Given the description of an element on the screen output the (x, y) to click on. 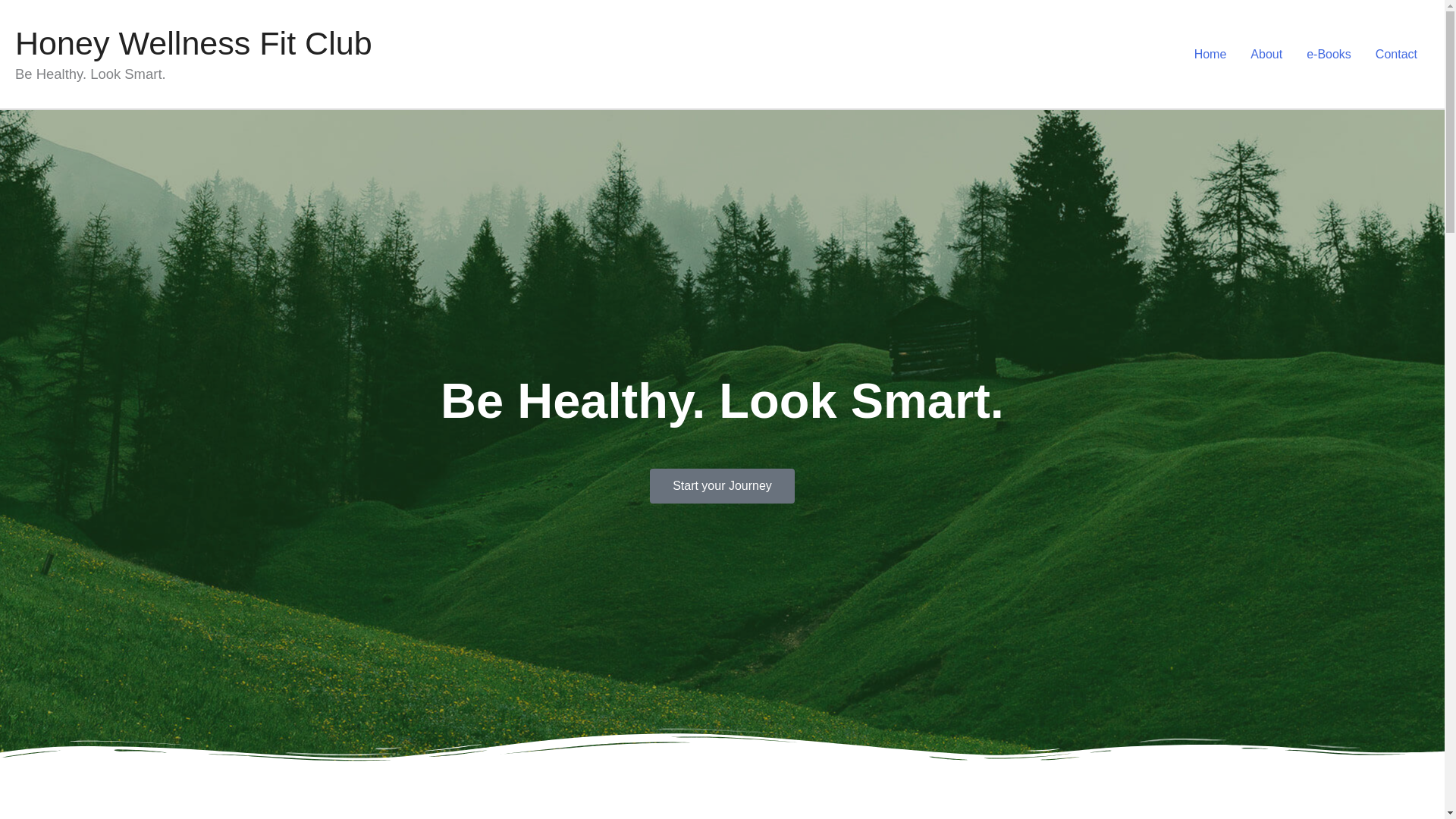
Honey Wellness Fit Club (193, 43)
About (1266, 54)
e-Books (1328, 54)
Home (1210, 54)
Start your Journey (721, 485)
Contact (1395, 54)
